Given the description of an element on the screen output the (x, y) to click on. 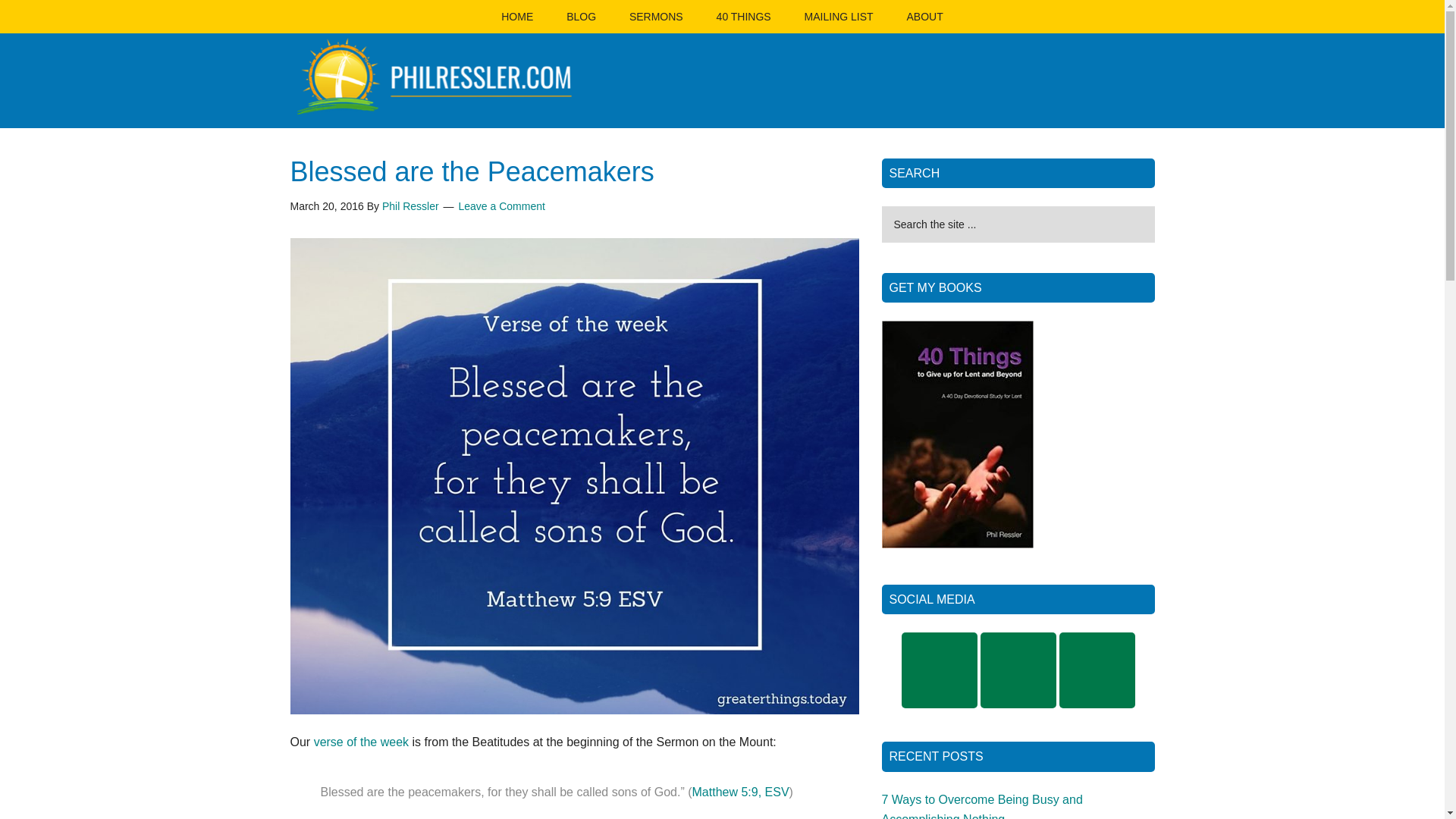
Matthew 5:9, ESV (741, 791)
BLOG (581, 16)
SERMONS (656, 16)
Leave a Comment (501, 205)
Phil Ressler (410, 205)
MAILING LIST (838, 16)
ABOUT (924, 16)
40 THINGS (743, 16)
